Given the description of an element on the screen output the (x, y) to click on. 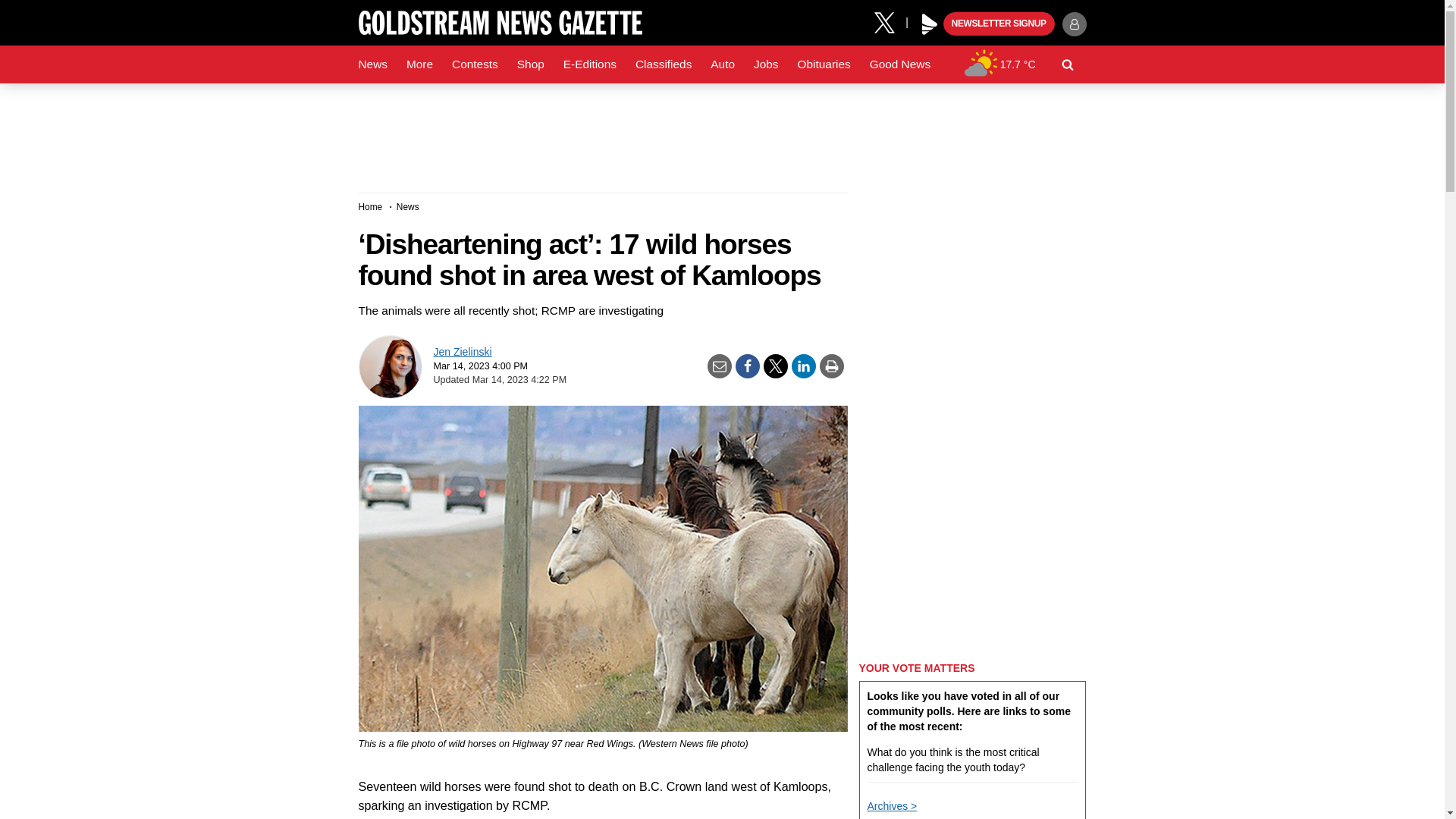
3rd party ad content (721, 131)
NEWSLETTER SIGNUP (998, 24)
News (372, 64)
X (889, 21)
Play (929, 24)
Black Press Media (929, 24)
